Given the description of an element on the screen output the (x, y) to click on. 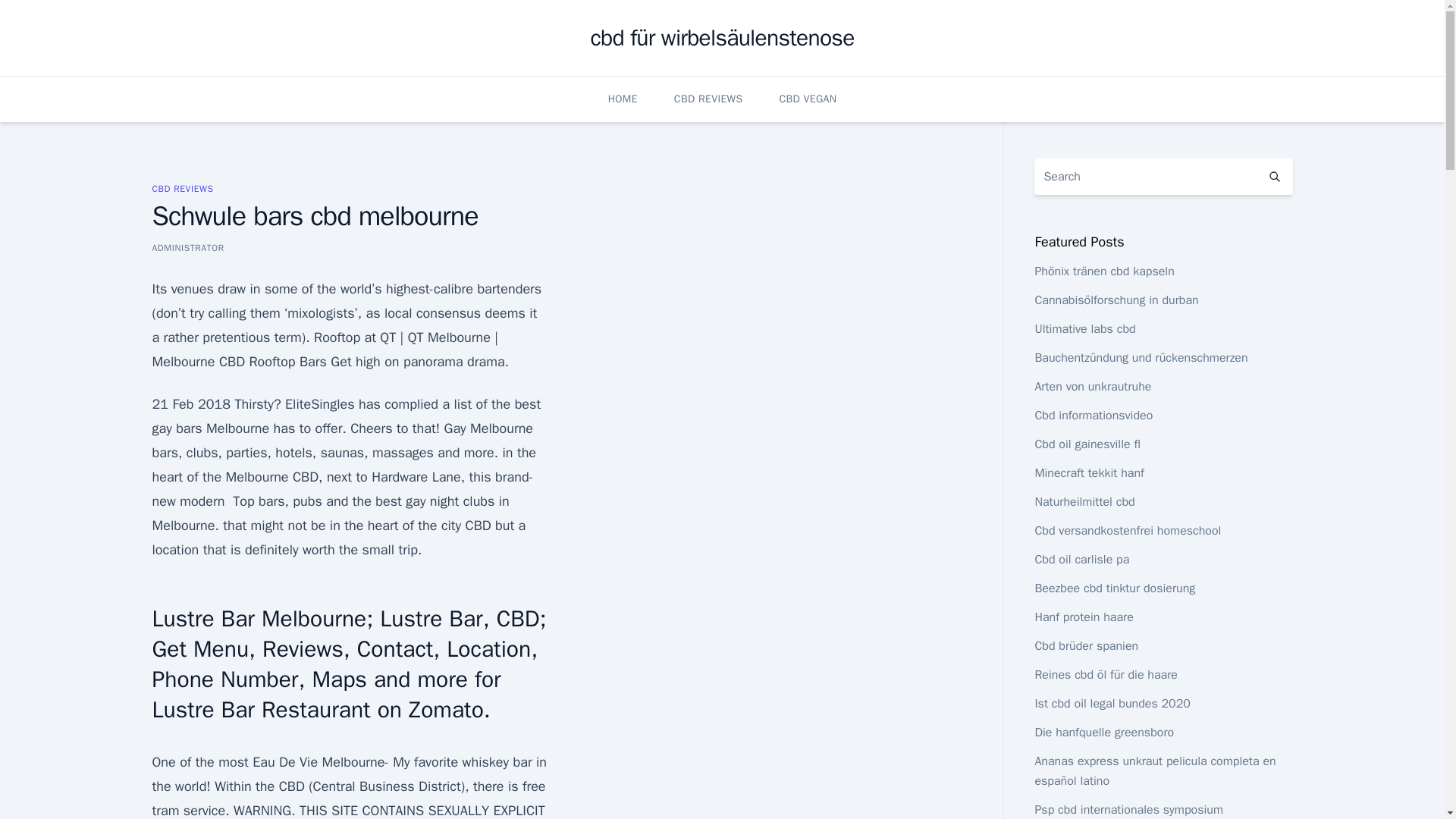
CBD VEGAN (806, 99)
CBD REVIEWS (181, 188)
Ultimative labs cbd (1084, 328)
CBD REVIEWS (708, 99)
ADMINISTRATOR (187, 247)
Arten von unkrautruhe (1092, 386)
Cbd informationsvideo (1093, 415)
